Given the description of an element on the screen output the (x, y) to click on. 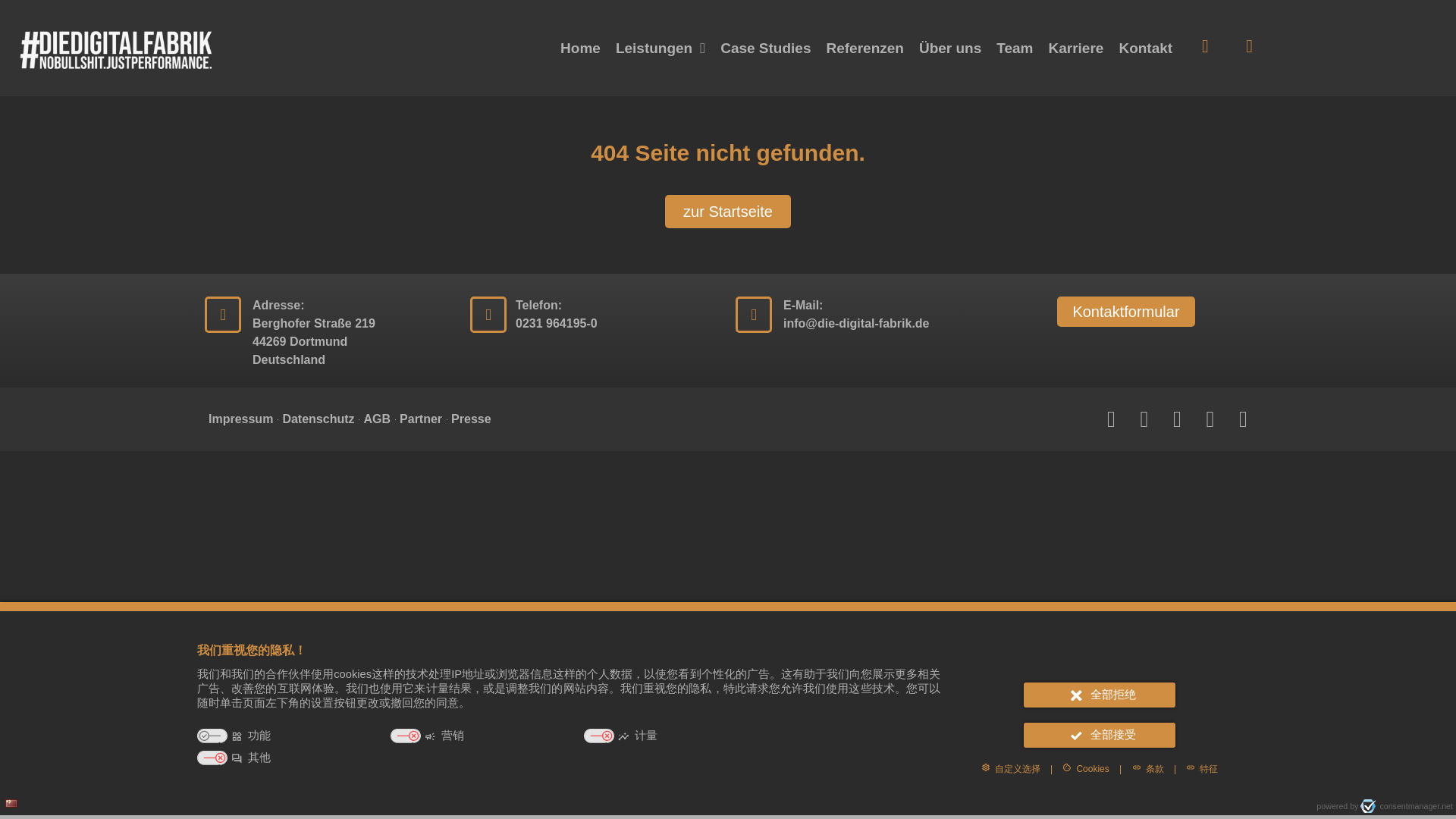
Karriere (1076, 48)
Home (580, 48)
Leistungen (660, 48)
Kontakt (1144, 48)
Case Studies (765, 48)
Referenzen (864, 48)
Team (1014, 48)
